Given the description of an element on the screen output the (x, y) to click on. 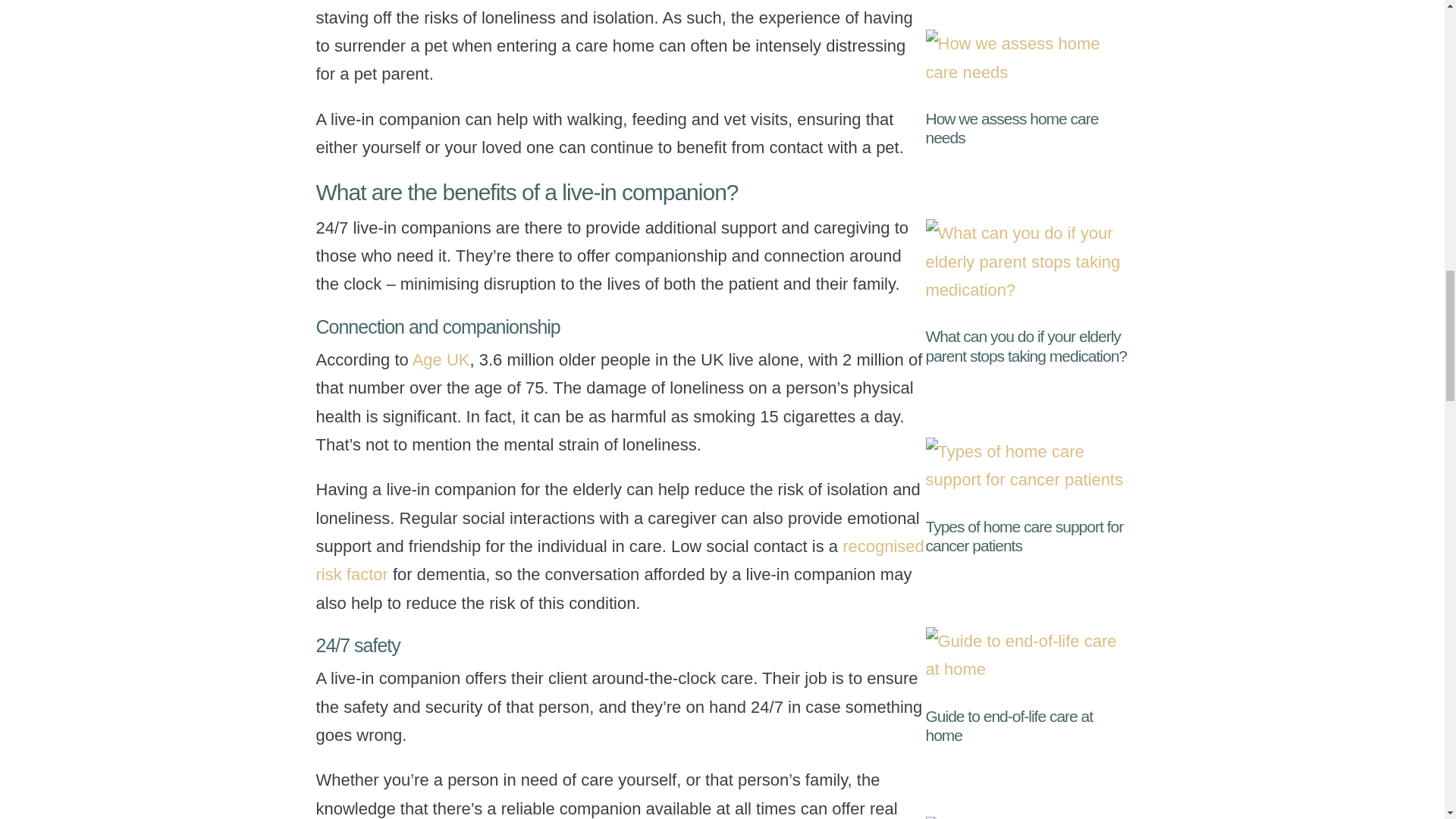
Guide to end-of-life care at home (1008, 725)
Age UK (441, 359)
recognised risk factor (619, 560)
How we assess home care needs (1010, 127)
Types of home care support for cancer patients (1023, 535)
